Given the description of an element on the screen output the (x, y) to click on. 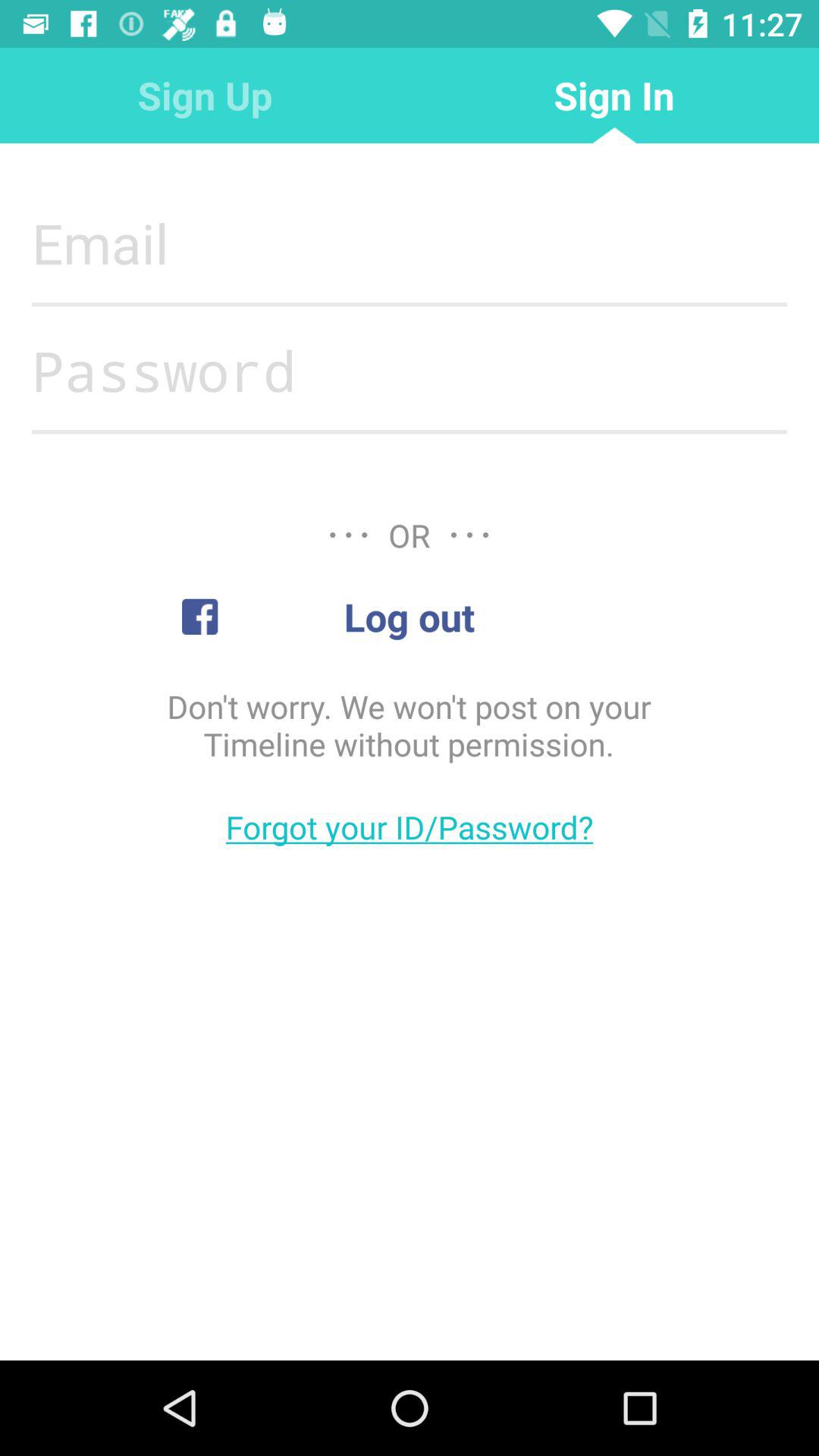
swipe until the sign up icon (204, 95)
